Given the description of an element on the screen output the (x, y) to click on. 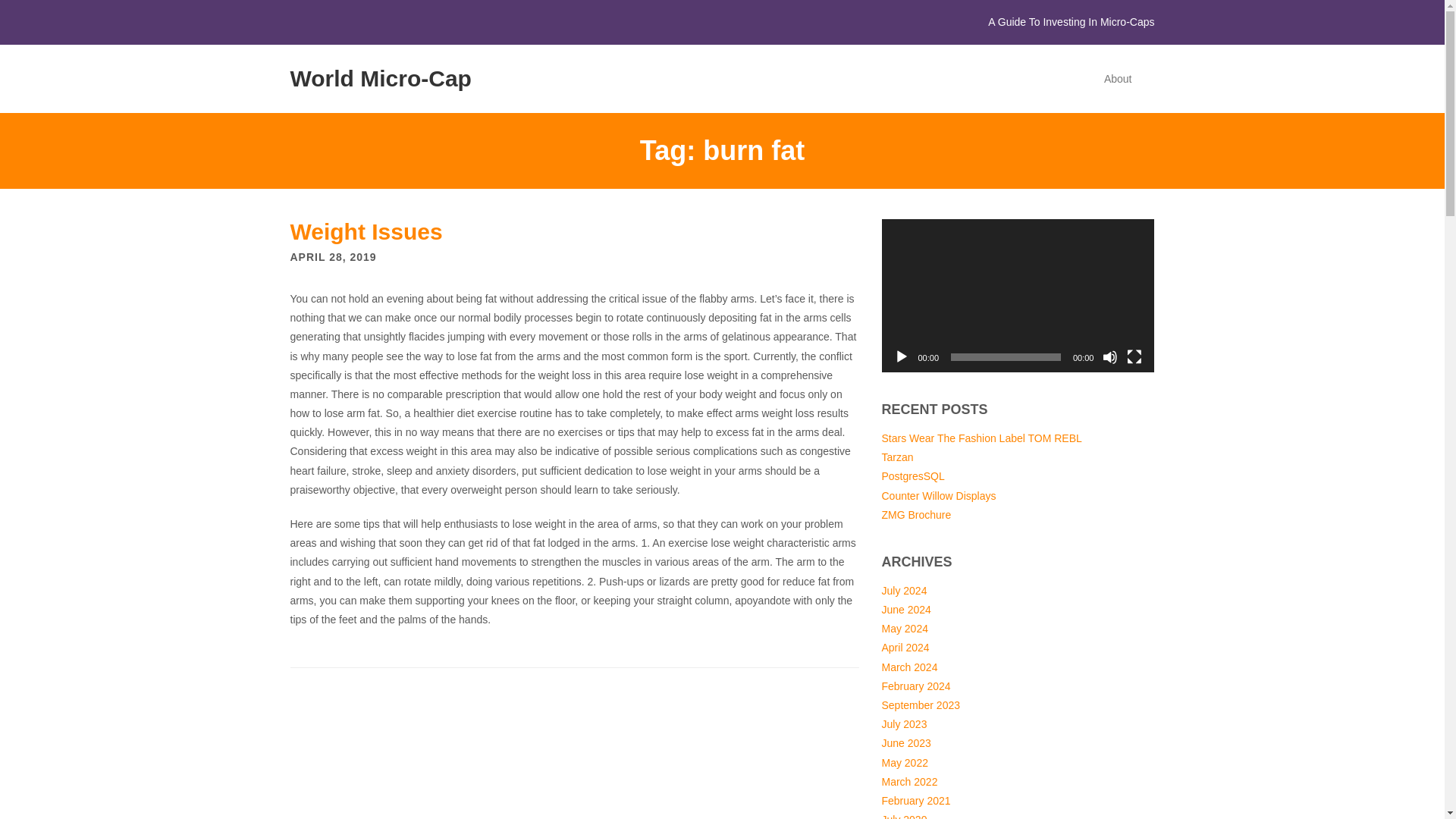
Stars Wear The Fashion Label TOM REBL (980, 438)
ZMG Brochure (915, 514)
June 2023 (905, 743)
PostgresSQL (911, 476)
March 2022 (908, 781)
March 2024 (908, 666)
Weight Issues (365, 231)
April 2024 (904, 647)
July 2020 (903, 816)
Mute (1110, 356)
